Given the description of an element on the screen output the (x, y) to click on. 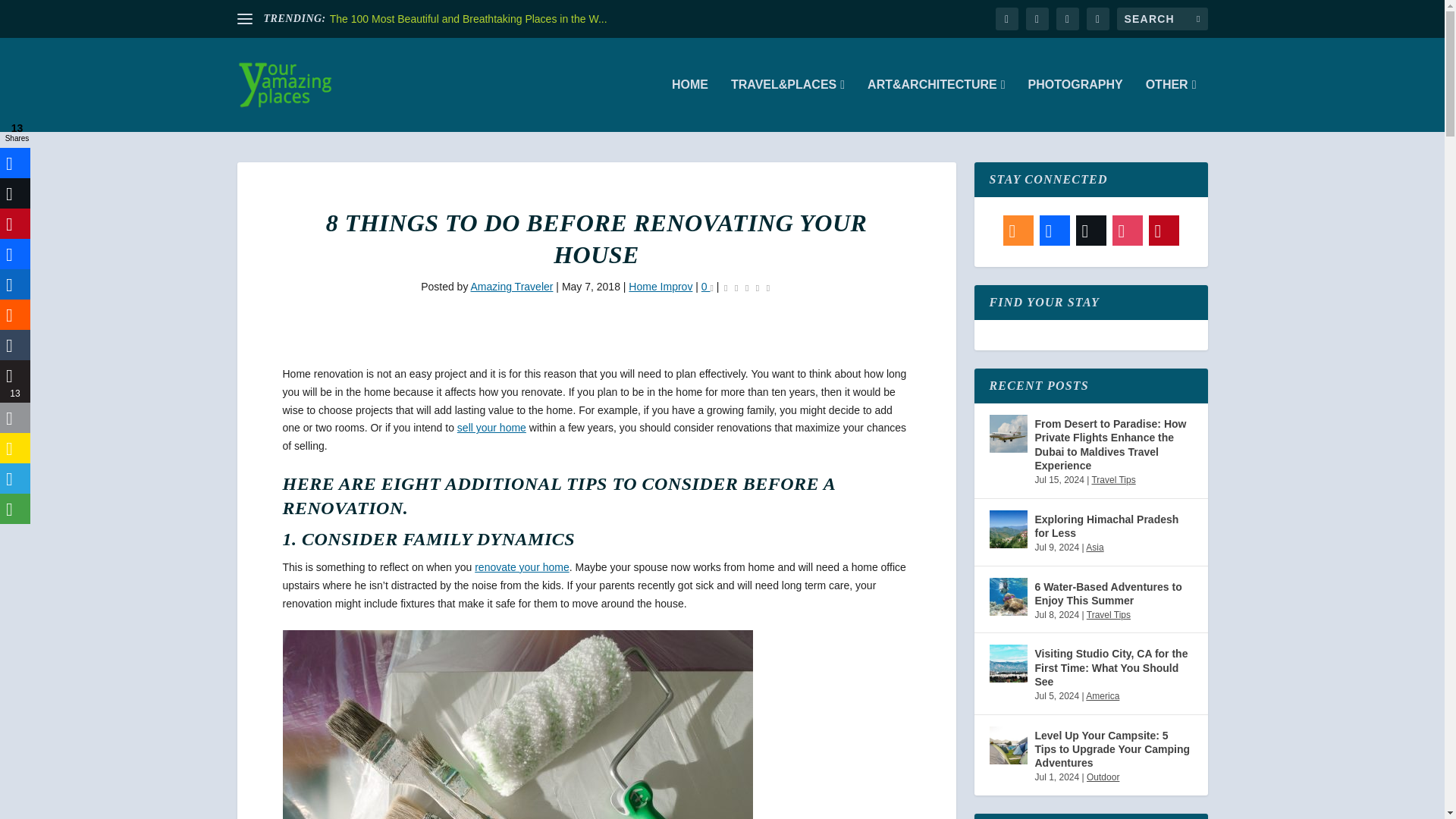
Posts by Amazing Traveler (511, 286)
facebook (1005, 18)
Trending (243, 18)
twitter (1036, 18)
The 100 Most Beautiful and Breathtaking Places in the W... (468, 19)
instagram (1097, 18)
Rating: 0.00 (746, 287)
pinterest (1066, 18)
OTHER (1170, 104)
PHOTOGRAPHY (1074, 104)
Search for: (1161, 18)
